Given the description of an element on the screen output the (x, y) to click on. 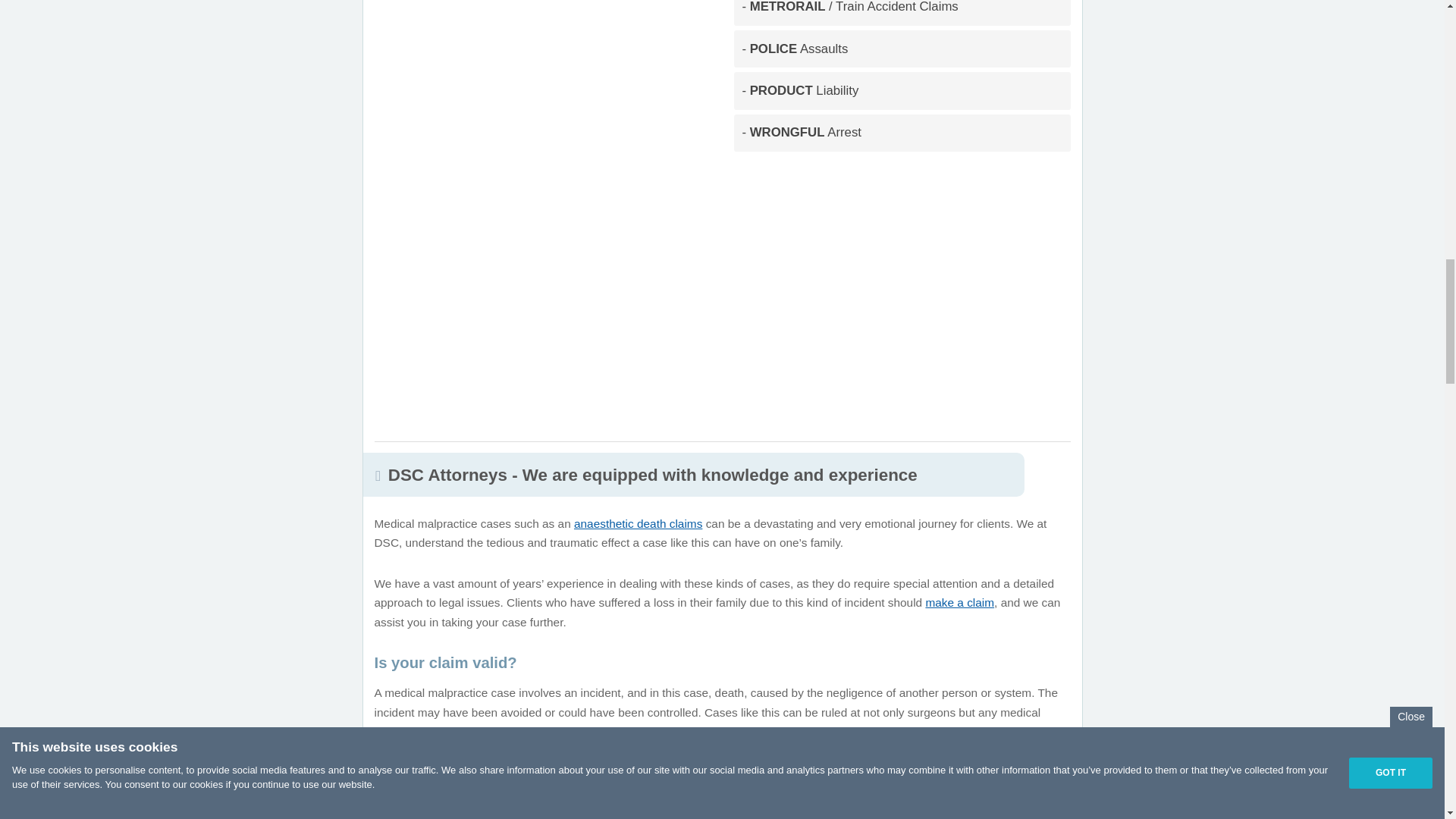
anaesthetic death claims (637, 522)
make a claim (959, 602)
